Given the description of an element on the screen output the (x, y) to click on. 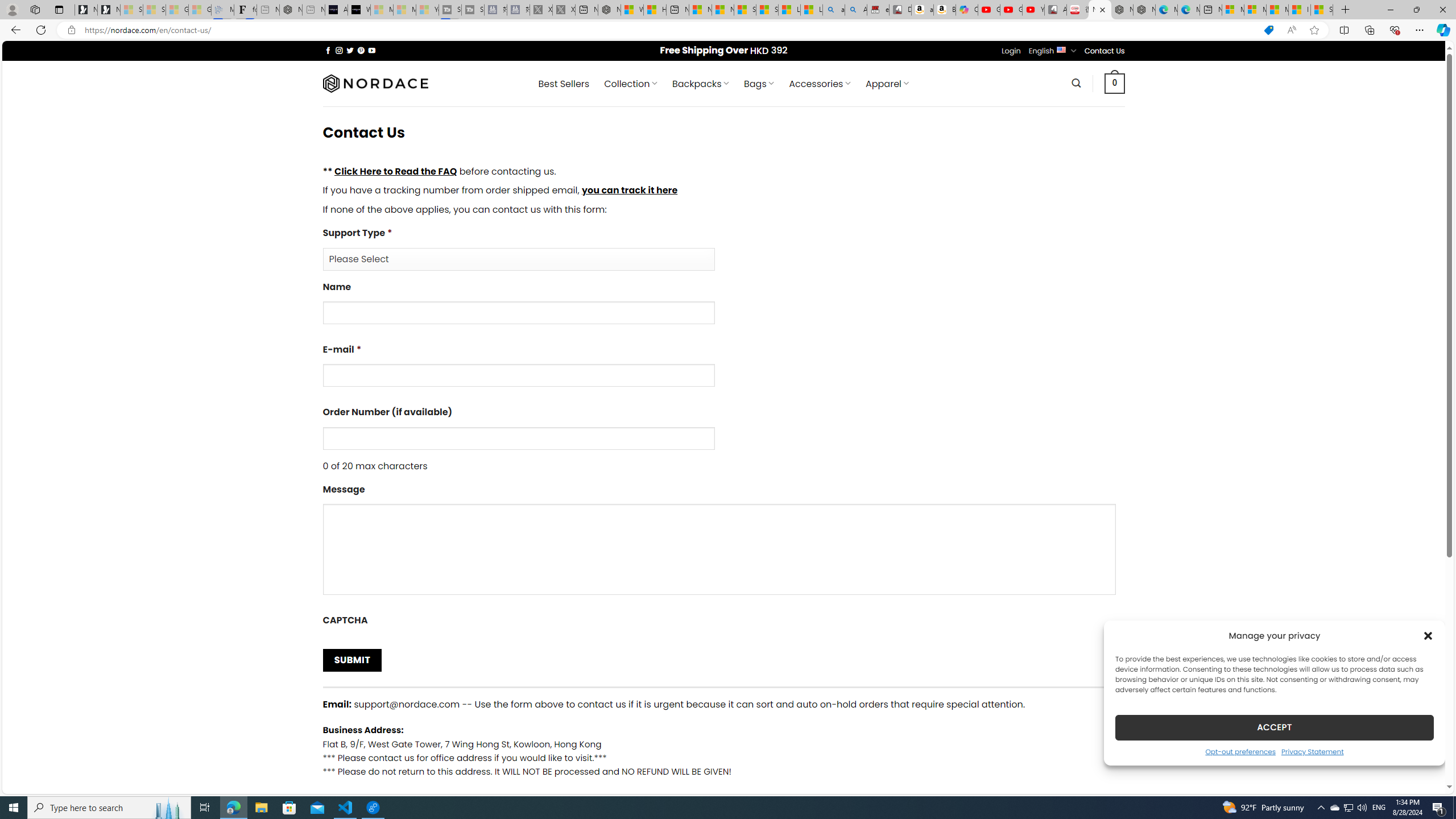
Microsoft Start - Sleeping (404, 9)
AI Voice Changer for PC and Mac - Voice.ai (336, 9)
Streaming Coverage | T3 - Sleeping (449, 9)
All Cubot phones (1055, 9)
E-mail* (723, 369)
you can track it here (629, 190)
X - Sleeping (563, 9)
Wildlife - MSN (631, 9)
Name (723, 306)
